Given the description of an element on the screen output the (x, y) to click on. 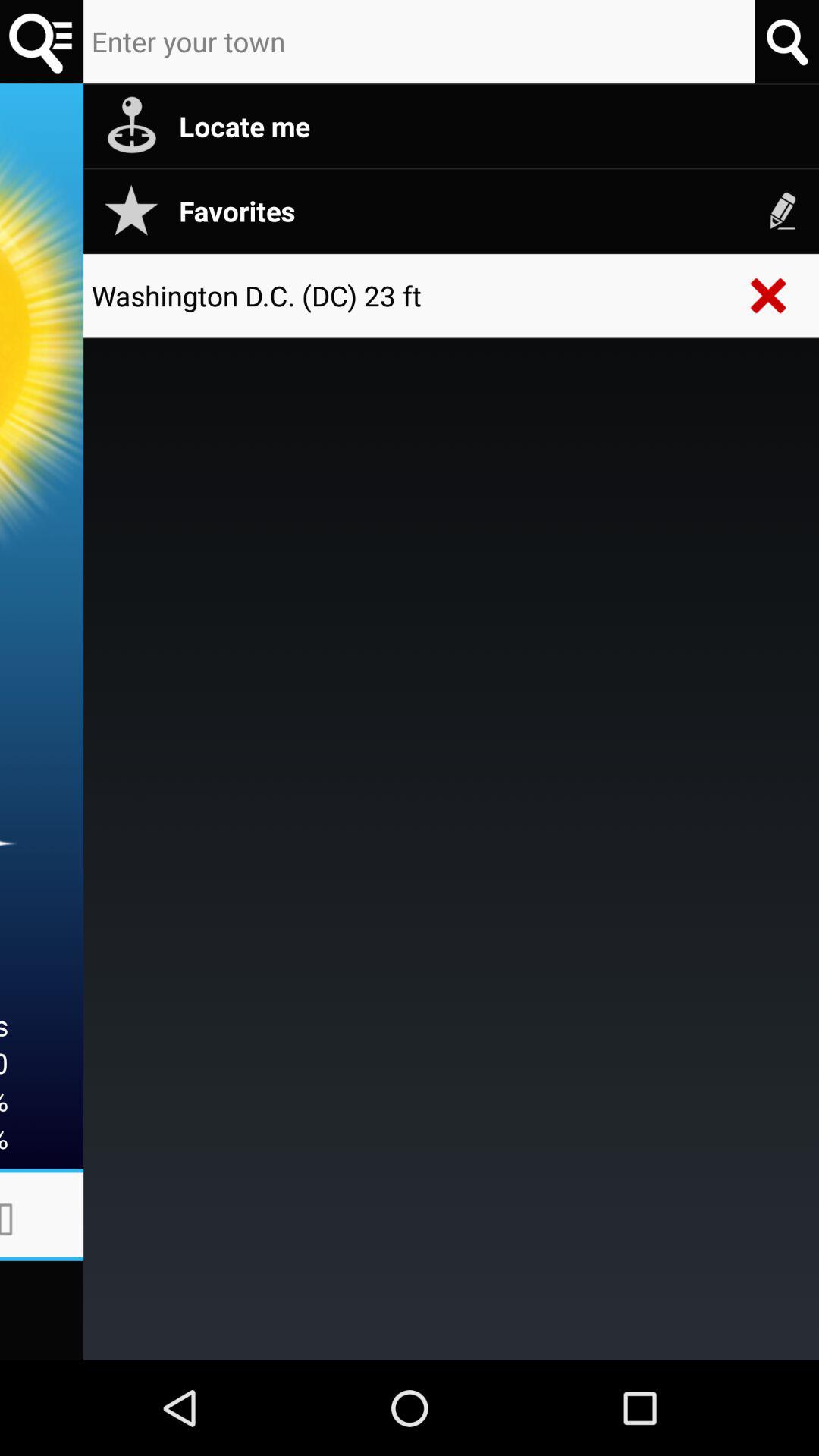
searching box option (419, 41)
